Given the description of an element on the screen output the (x, y) to click on. 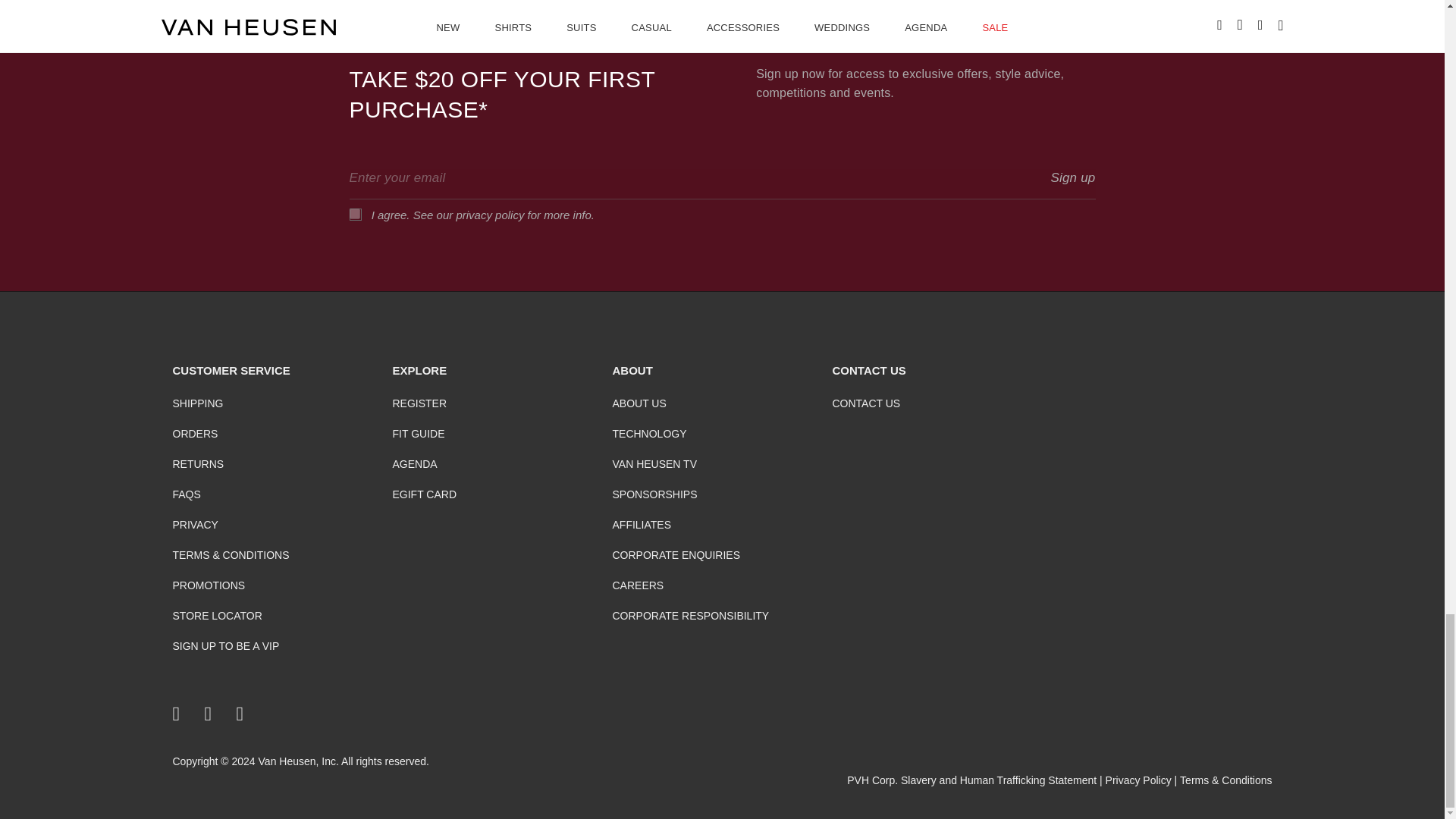
Subscribe (1071, 177)
on (354, 213)
